Given the description of an element on the screen output the (x, y) to click on. 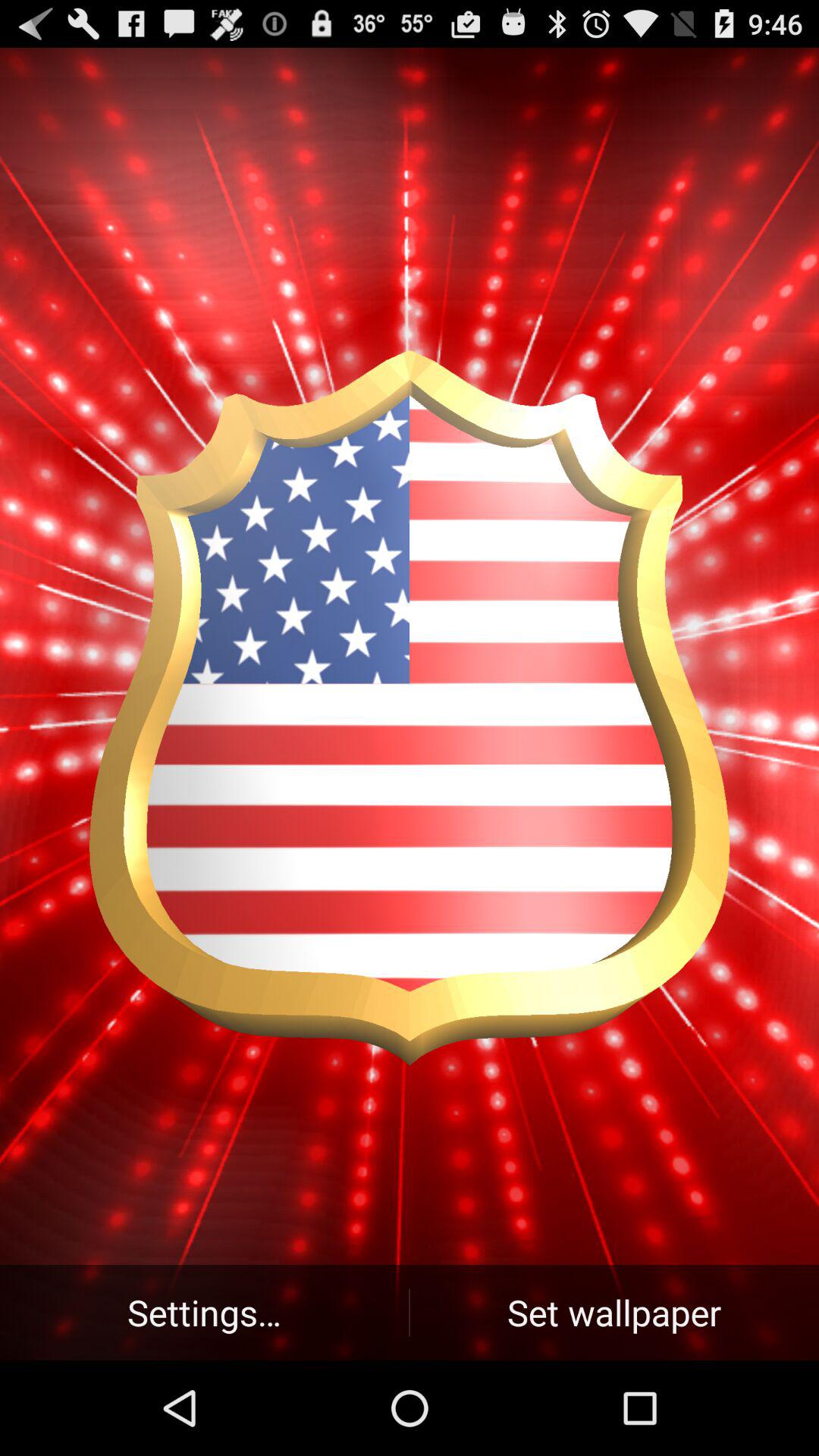
launch the icon at the bottom right corner (614, 1312)
